Given the description of an element on the screen output the (x, y) to click on. 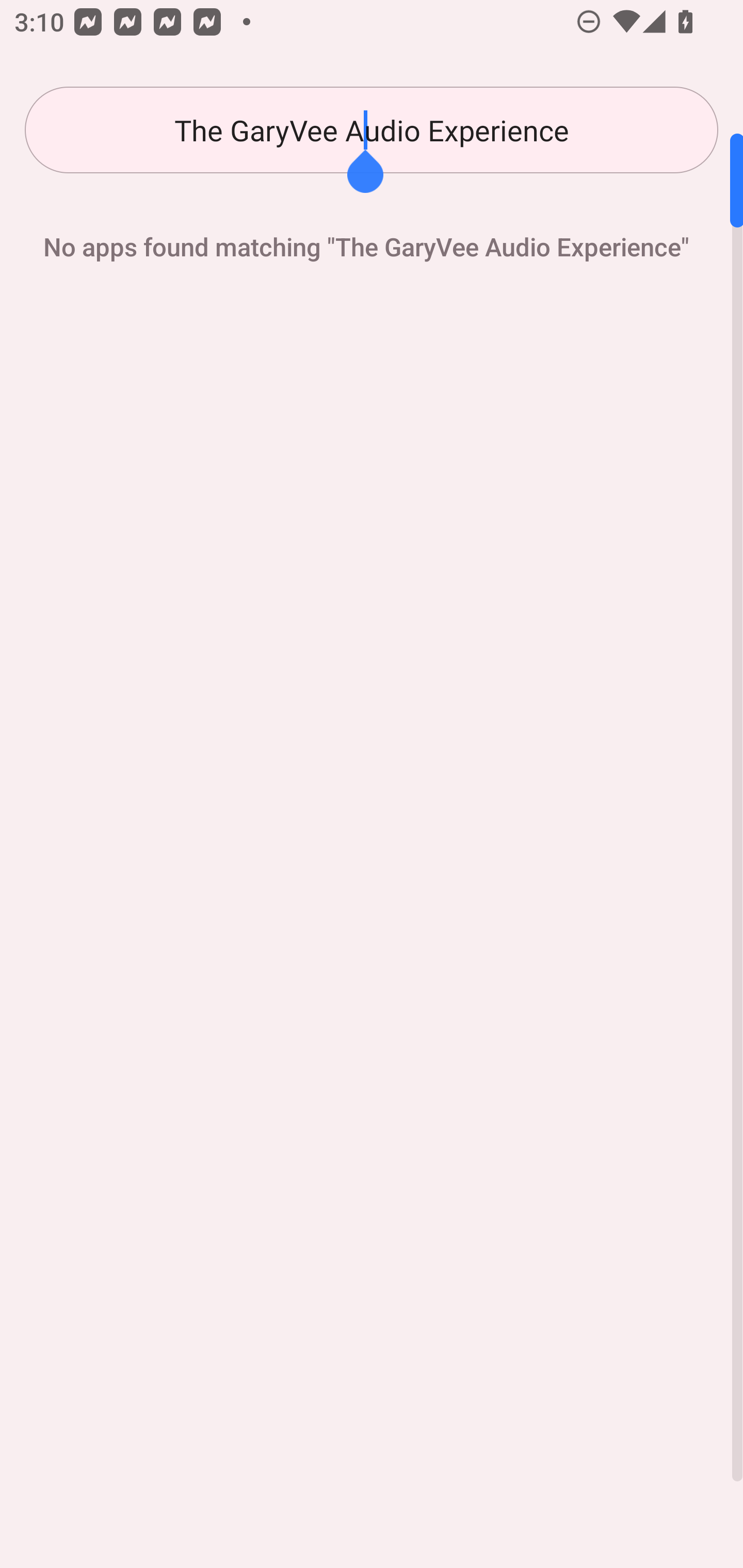
The GaryVee Audio Experience (371, 130)
